Given the description of an element on the screen output the (x, y) to click on. 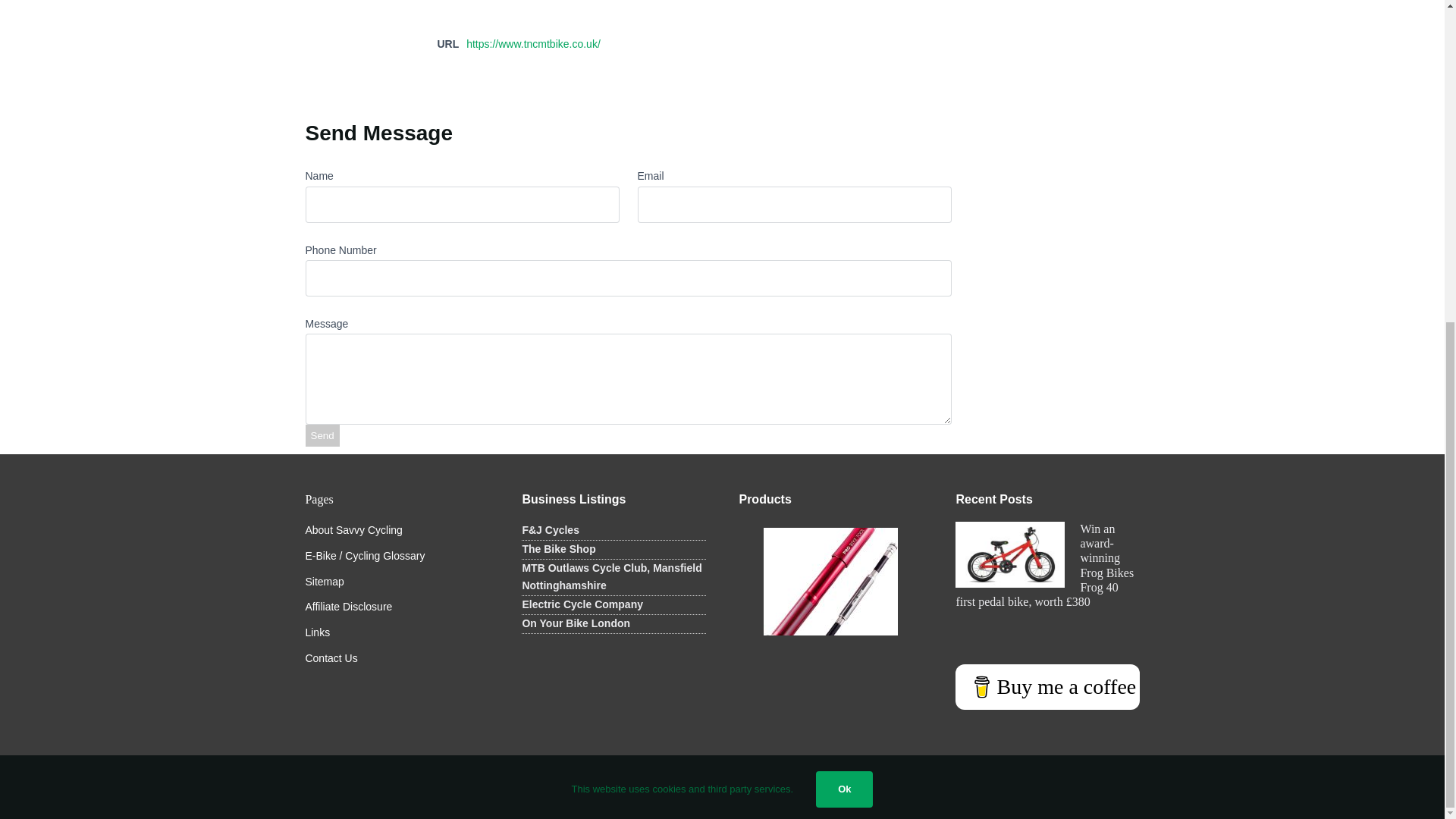
Send (321, 435)
